Given the description of an element on the screen output the (x, y) to click on. 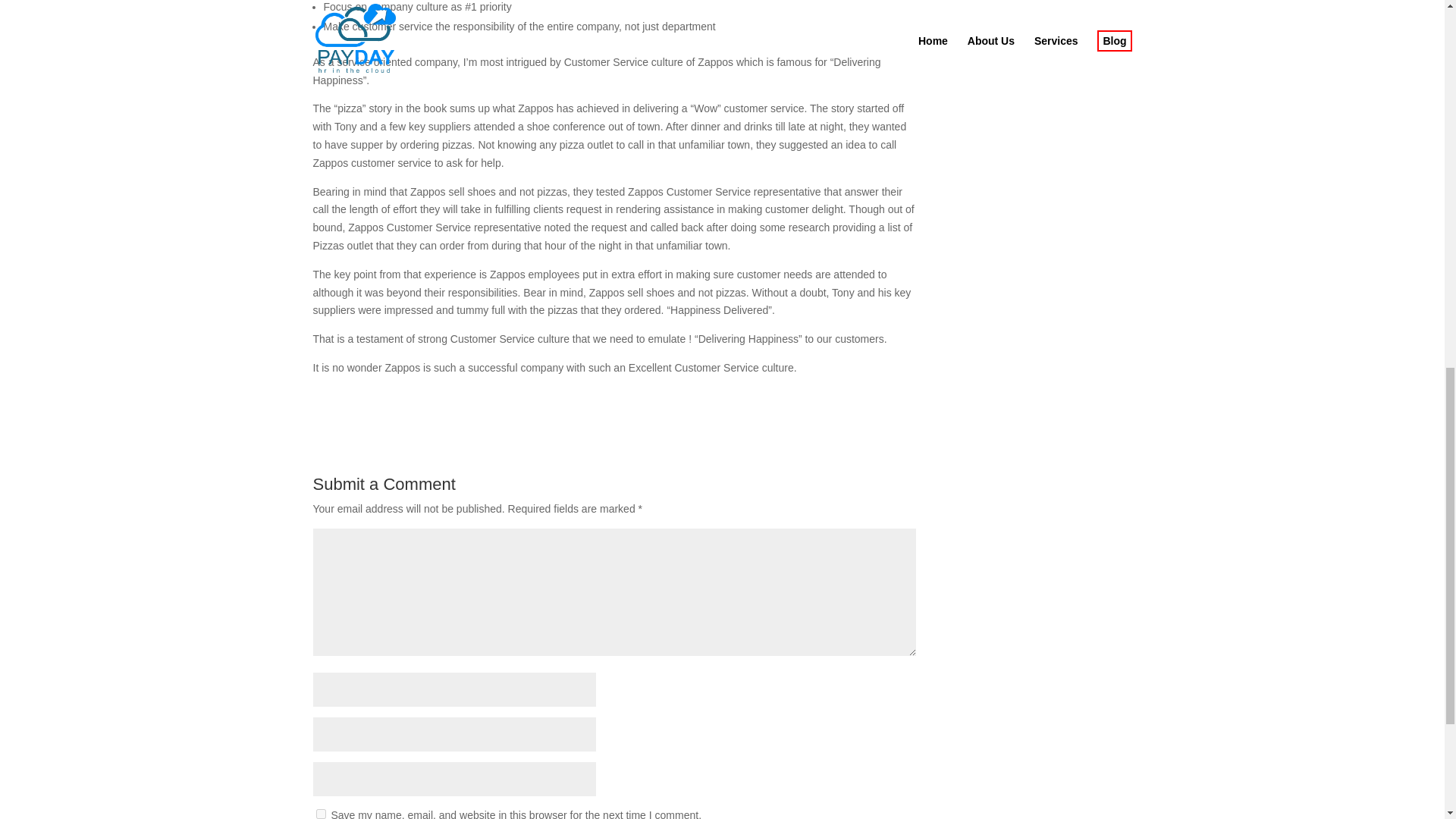
yes (319, 814)
